Given the description of an element on the screen output the (x, y) to click on. 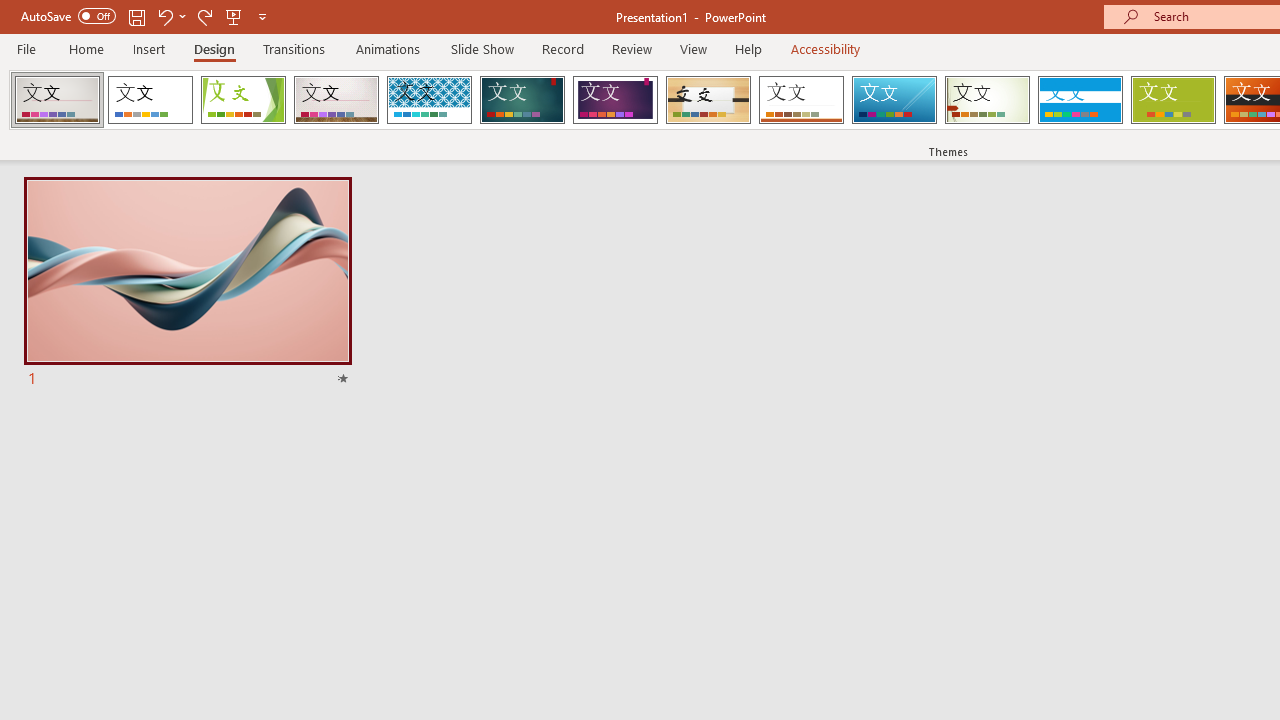
Wisp (987, 100)
Retrospect (801, 100)
Organic (708, 100)
